Given the description of an element on the screen output the (x, y) to click on. 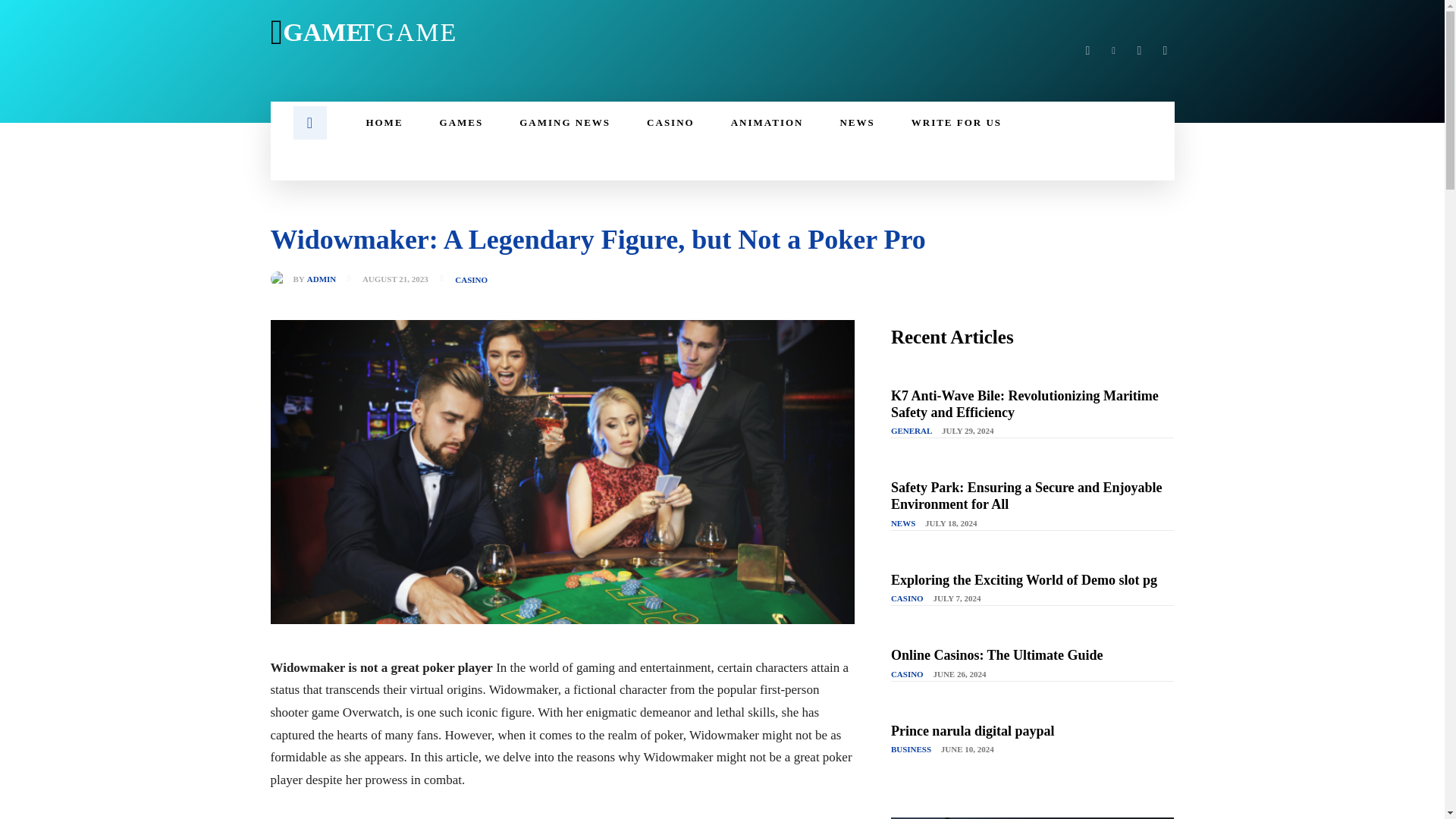
GAMING NEWS (564, 122)
Prince narula digital paypal (972, 730)
Exploring the Exciting World of Demo slot pg (1024, 580)
NEWS (903, 523)
GENERAL (911, 431)
NEWS (856, 122)
Exploring the Exciting World of Demo slot pg (1024, 580)
Linkedin (1112, 50)
